Given the description of an element on the screen output the (x, y) to click on. 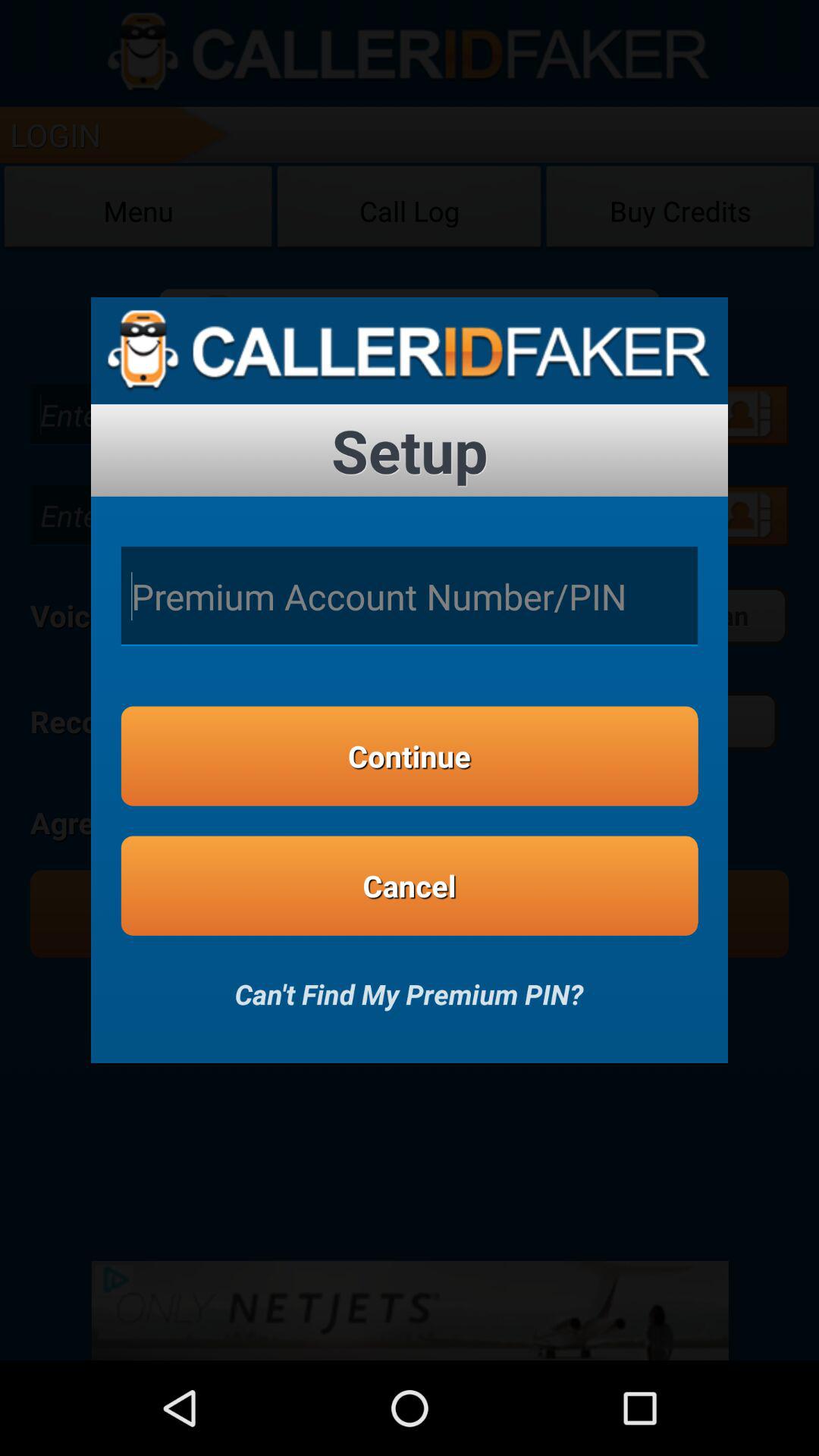
press icon above can t find (409, 885)
